Given the description of an element on the screen output the (x, y) to click on. 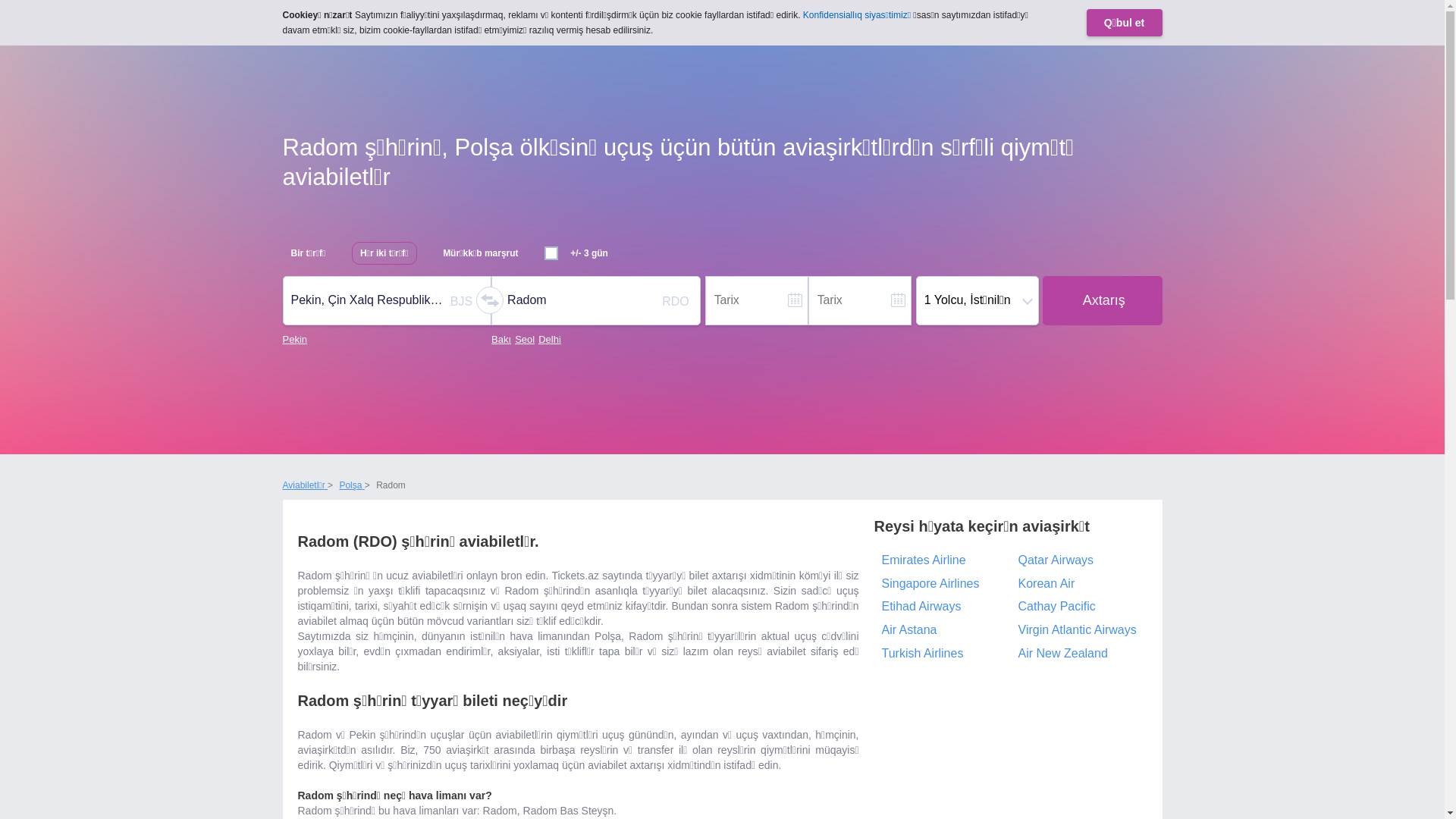
Virgin Atlantic Airways Element type: text (1078, 630)
Air Astana Element type: text (941, 630)
Aze Element type: text (1043, 18)
Seol Element type: text (524, 339)
Qatar Airways Element type: text (1078, 560)
Etihad Airways Element type: text (941, 607)
Turkish Airlines Element type: text (941, 654)
Delhi Element type: text (549, 339)
Singapore Airlines Element type: text (941, 584)
Emirates Airline Element type: text (941, 560)
Korean Air Element type: text (1078, 584)
Cathay Pacific Element type: text (1078, 607)
Air New Zealand Element type: text (1078, 654)
Pekin Element type: text (294, 339)
